Given the description of an element on the screen output the (x, y) to click on. 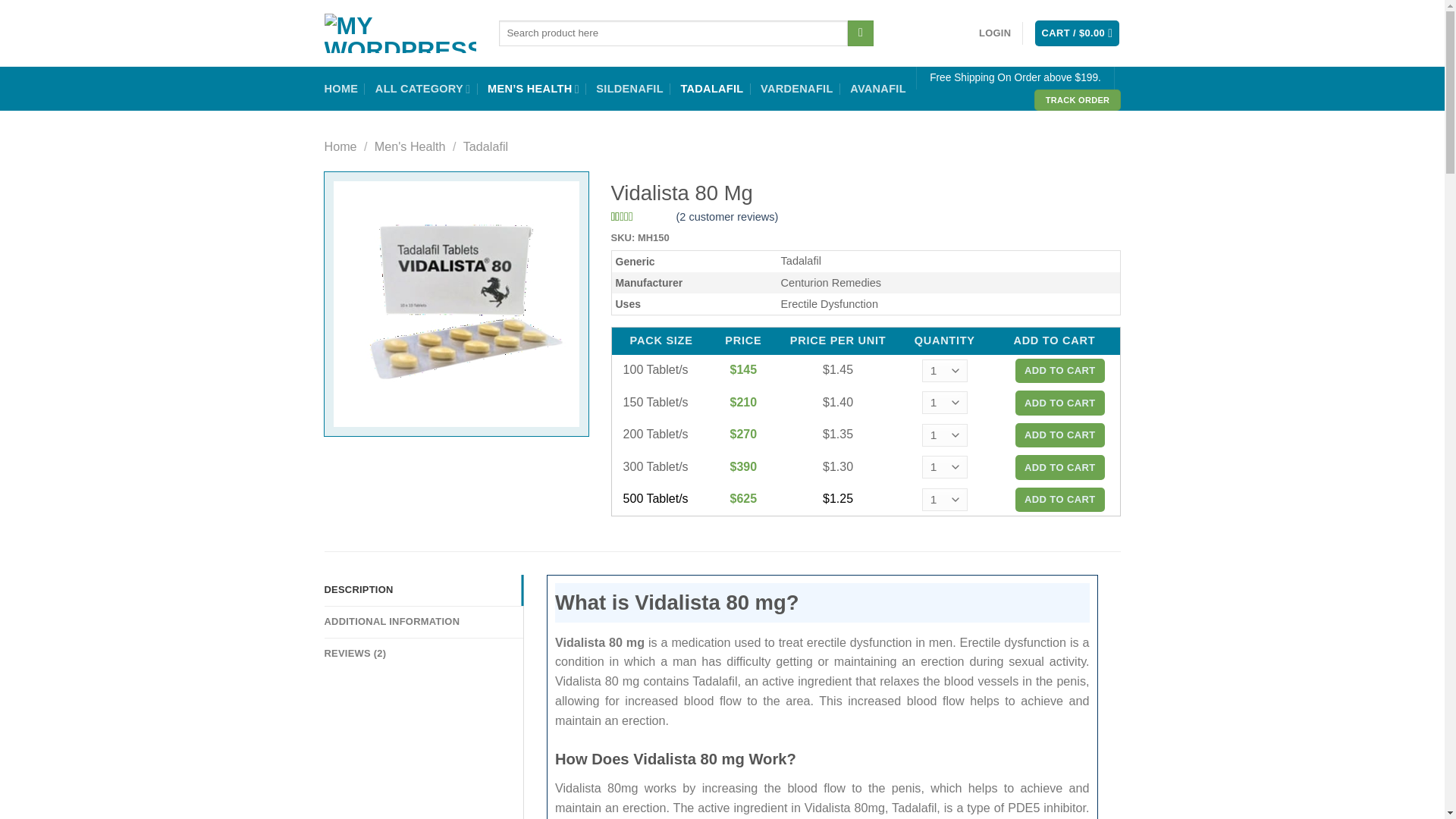
Search (859, 32)
Cart (1077, 32)
ALL CATEGORY (422, 89)
My WordPress - Just another WordPress site (400, 32)
HOME (341, 89)
Vidalista 80 Mg 1 (456, 303)
LOGIN (994, 32)
